Given the description of an element on the screen output the (x, y) to click on. 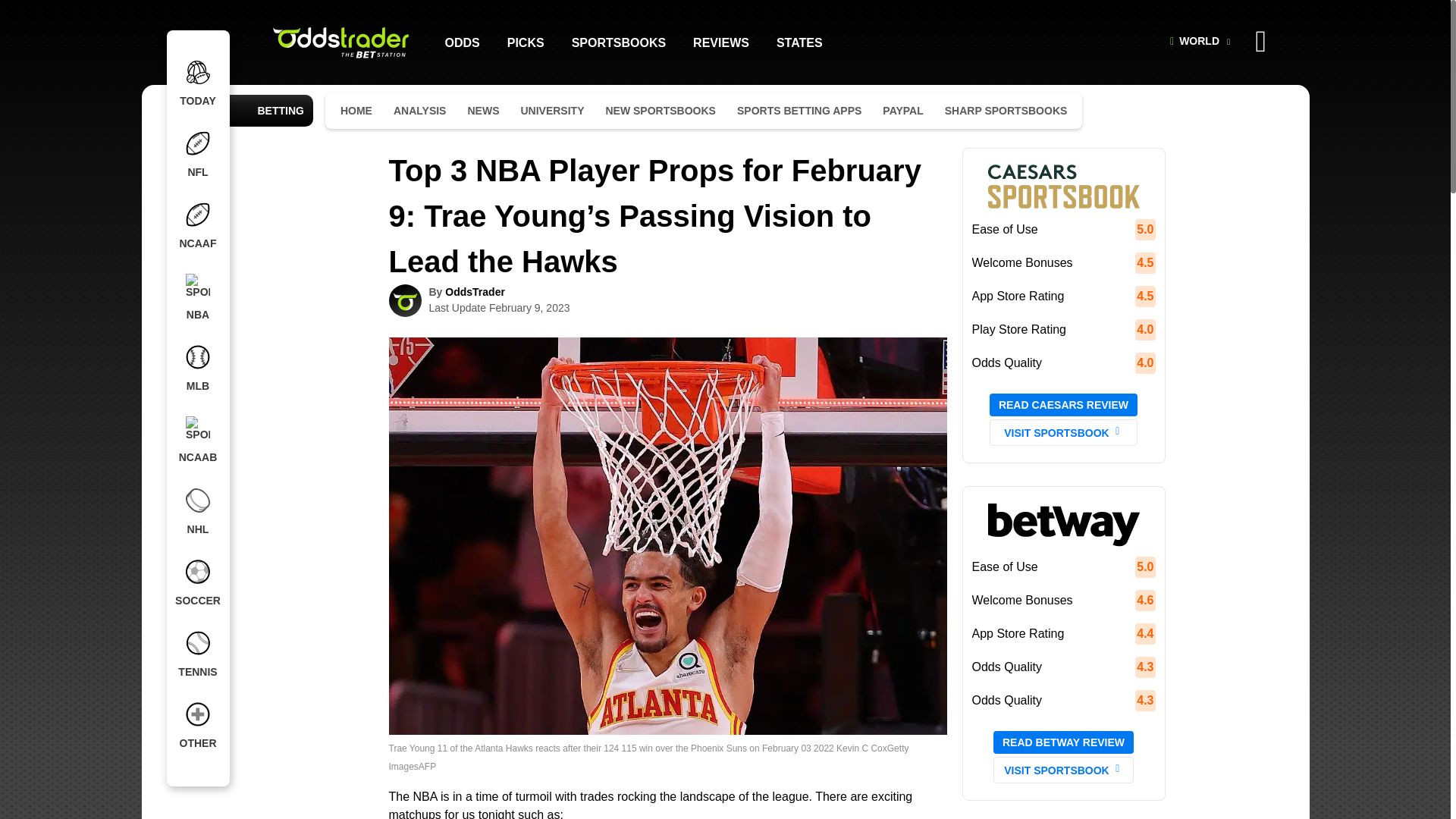
PICKS (525, 42)
HOME (356, 110)
TODAY (197, 82)
NCAAB (197, 439)
caesars-logo - Oddstrader (1062, 185)
NEW SPORTSBOOKS (659, 110)
UNIVERSITY (551, 110)
REVIEWS (721, 42)
Phoenix Suns v Atlanta Hawks - Oddstrader (667, 725)
PAYPAL (902, 110)
SPORTS BETTING APPS (798, 110)
betway-sportsbook-logo - Oddstrader (1062, 522)
SOCCER (197, 583)
ODDS (461, 42)
NBA (197, 296)
